Given the description of an element on the screen output the (x, y) to click on. 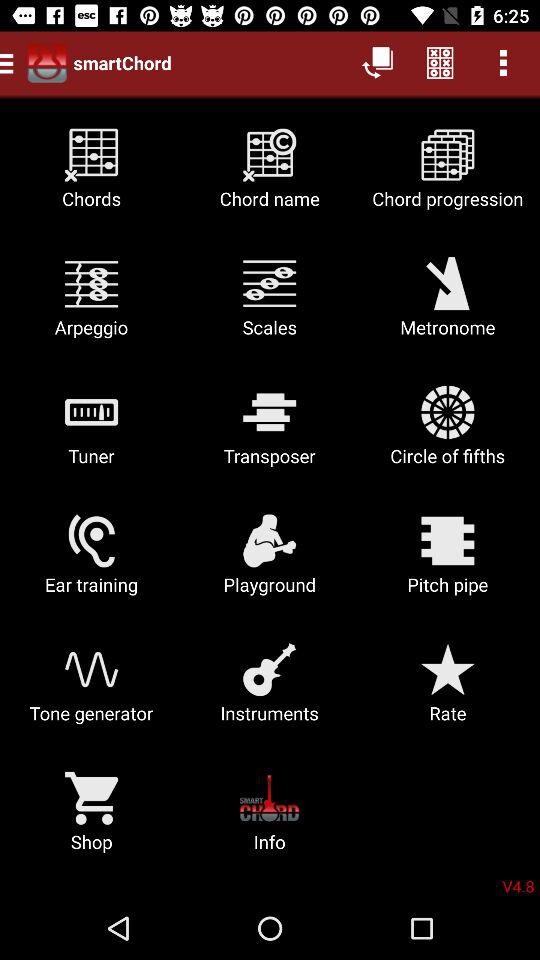
tap the icon next to the tuner icon (269, 432)
